Given the description of an element on the screen output the (x, y) to click on. 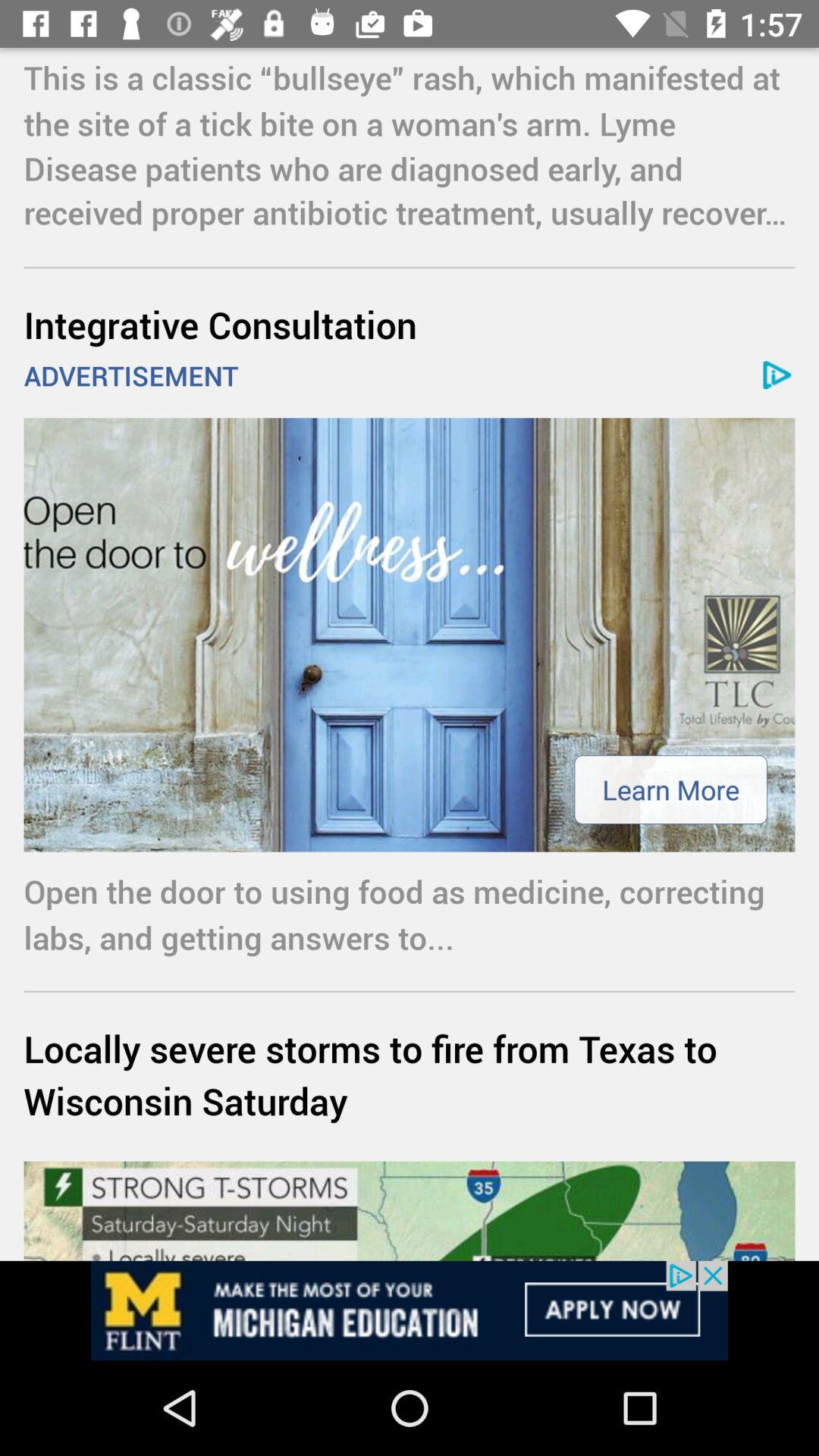
click to view advertisements icon (409, 1310)
